Given the description of an element on the screen output the (x, y) to click on. 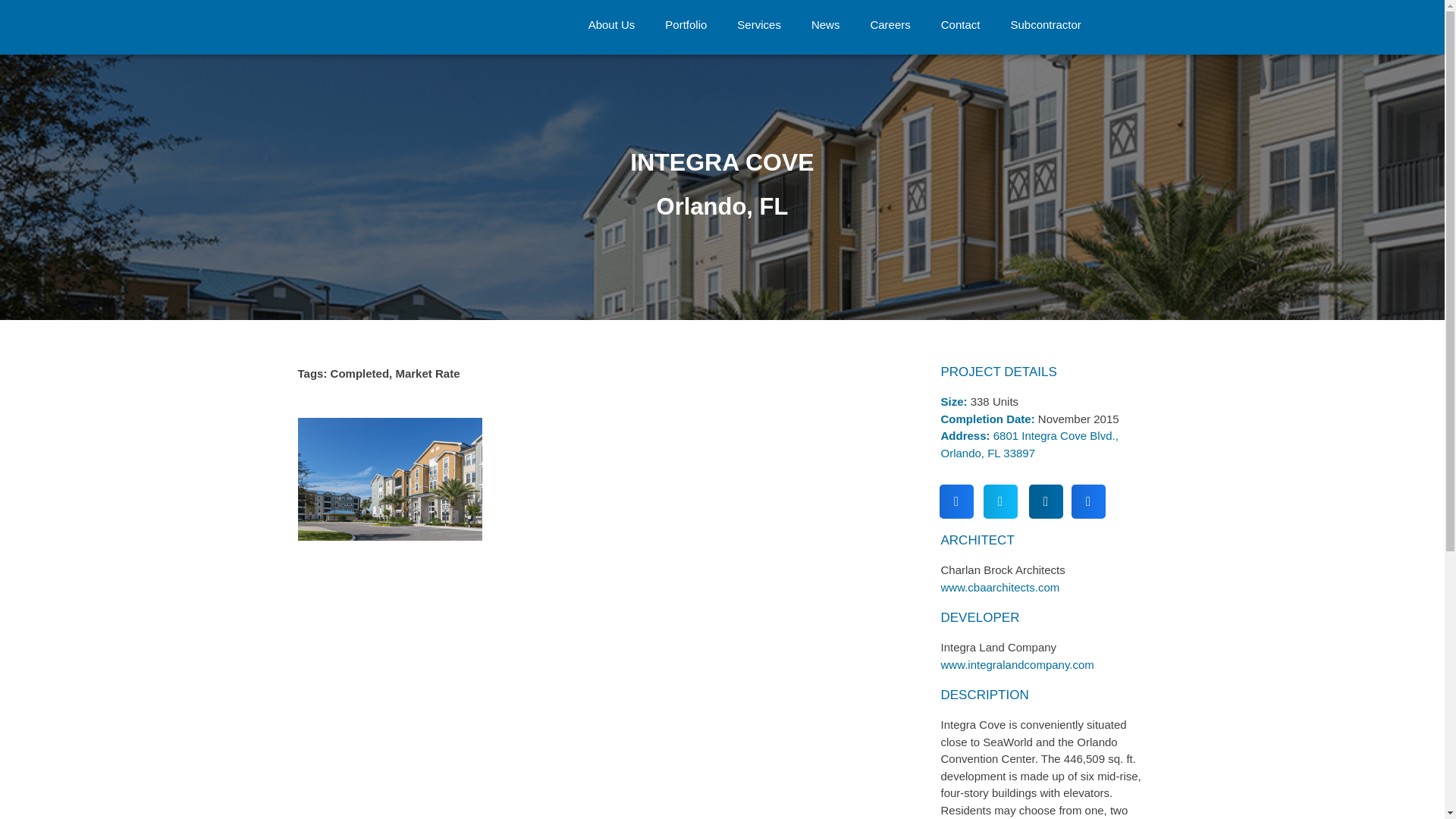
Portfolio (685, 24)
News (826, 24)
About Us (611, 24)
Subcontractor (1045, 24)
Contact (960, 24)
Services (759, 24)
Careers (889, 24)
